Given the description of an element on the screen output the (x, y) to click on. 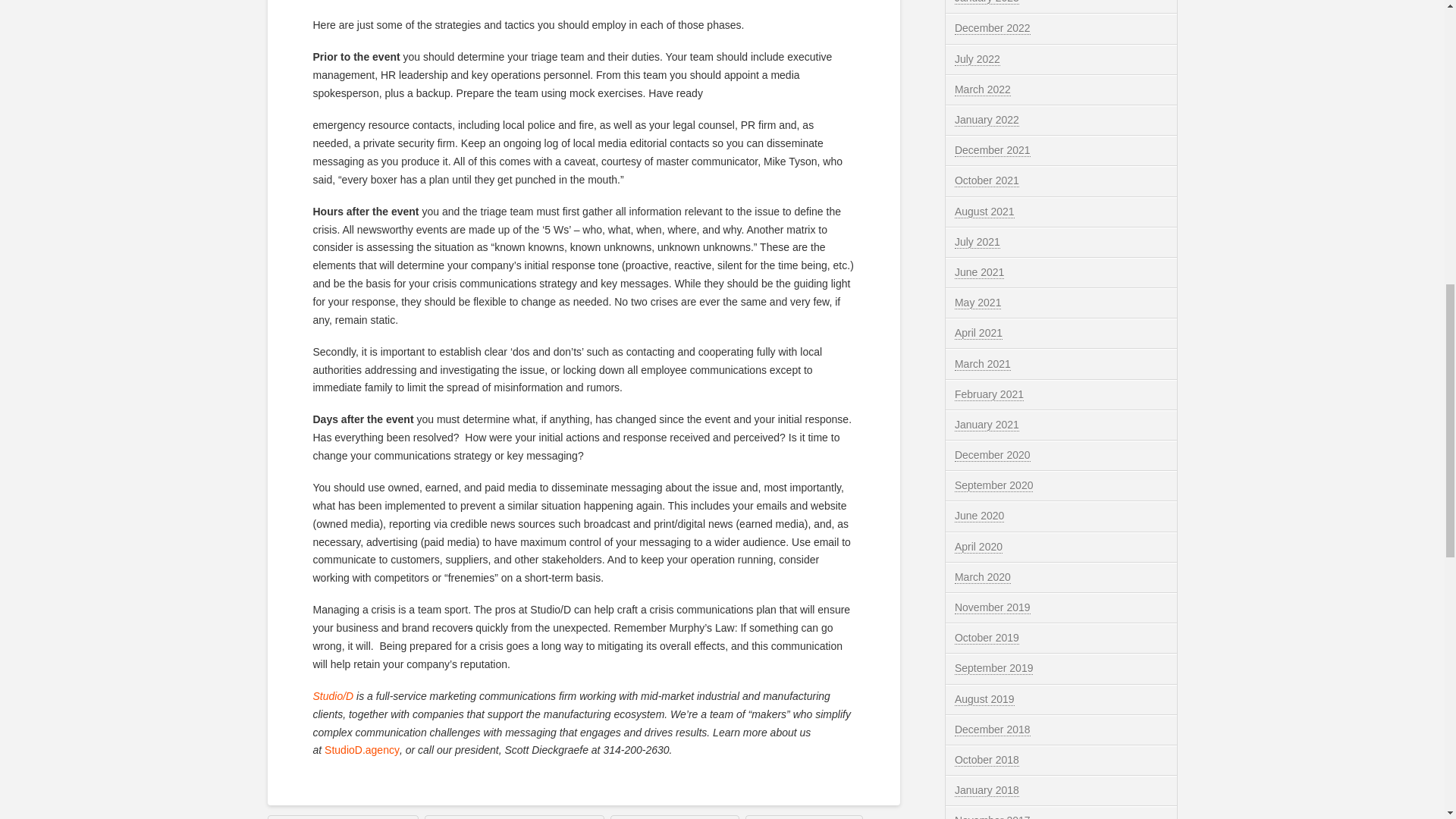
StudioD.agency (361, 749)
CRISIS COMMUNICATIONS (341, 816)
CRISIS PREPARATION (674, 816)
PUBLIC RELATIONS (804, 816)
CRISIS COMMUNICATIONS PLAN (514, 816)
